Given the description of an element on the screen output the (x, y) to click on. 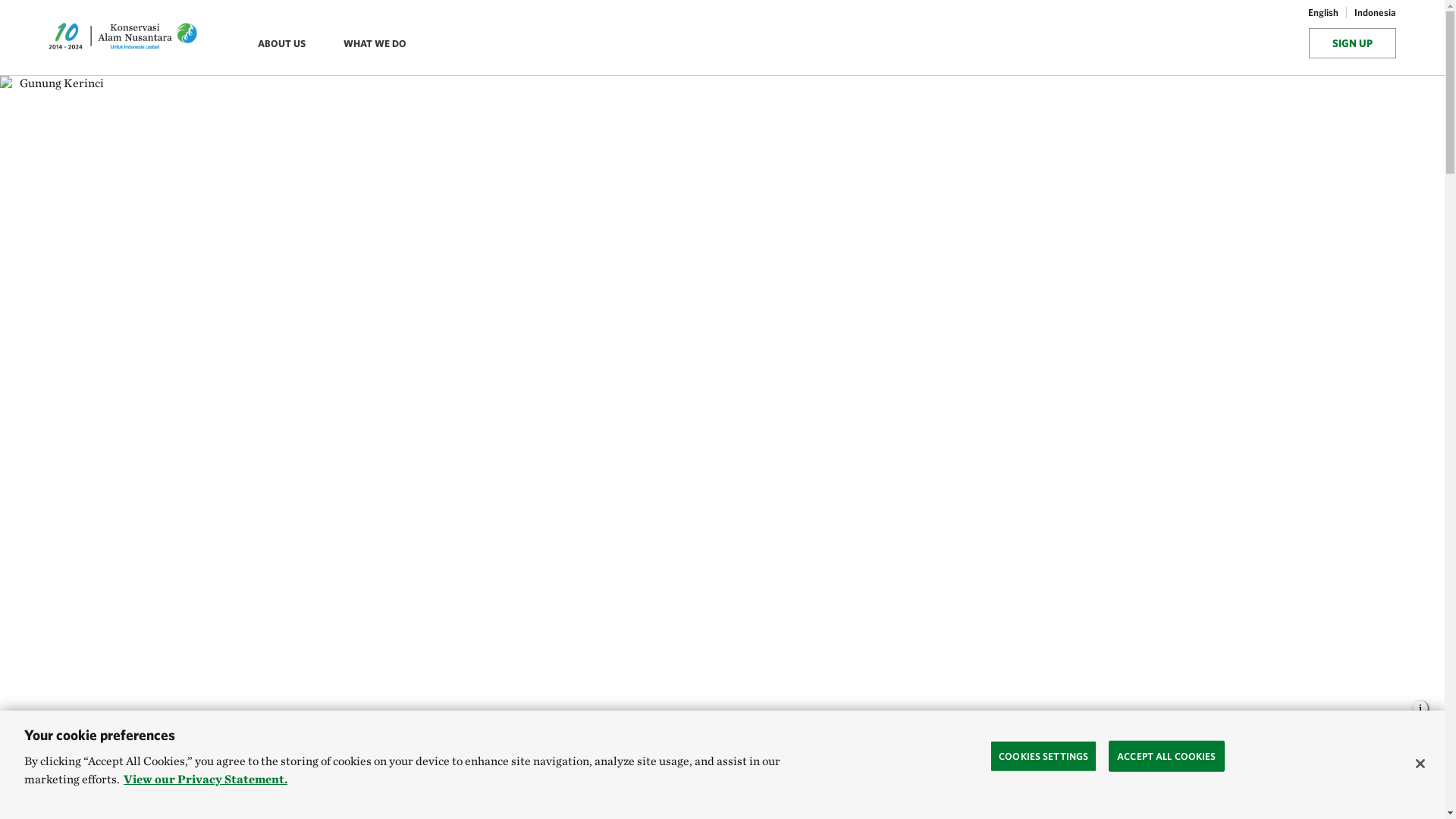
Indonesia (1371, 13)
SIGN UP (1352, 42)
WHAT WE DO (379, 44)
English (1322, 13)
ABOUT US (286, 44)
PERSPECTIVES (276, 786)
Show search (1289, 45)
